Given the description of an element on the screen output the (x, y) to click on. 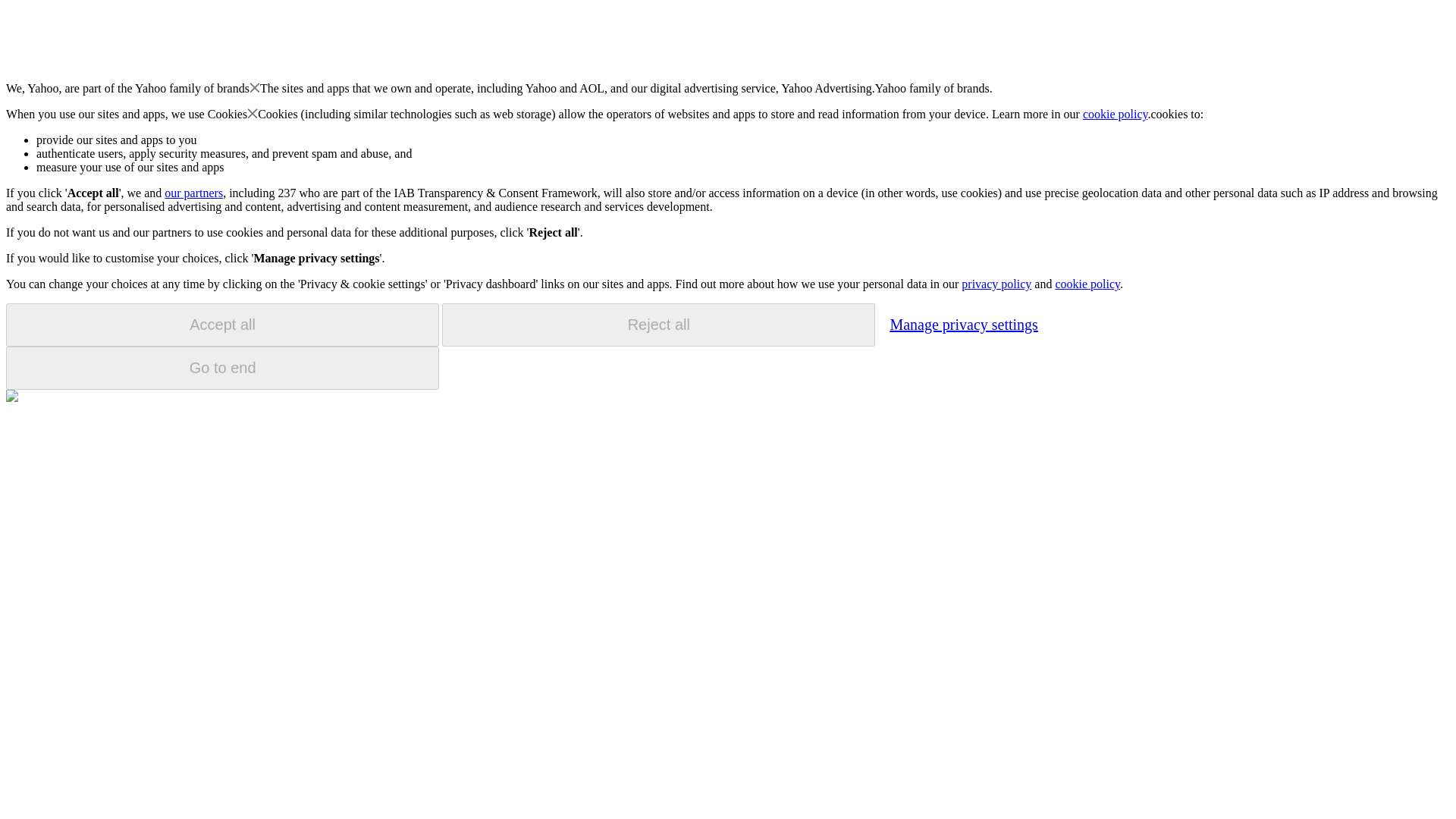
Go to end (222, 367)
privacy policy (995, 283)
Manage privacy settings (963, 323)
our partners (193, 192)
Accept all (222, 324)
Reject all (658, 324)
cookie policy (1115, 113)
cookie policy (1086, 283)
